Given the description of an element on the screen output the (x, y) to click on. 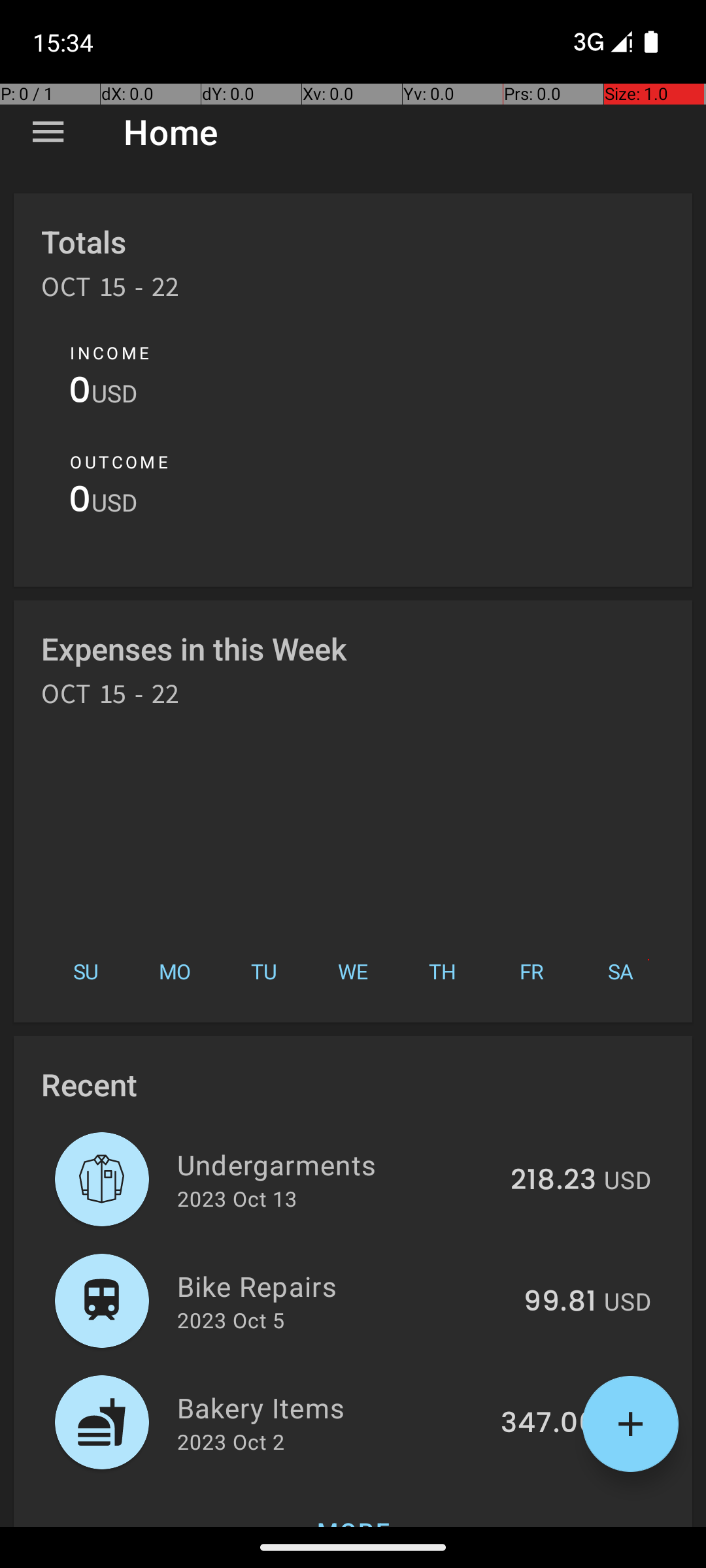
MORE Element type: android.widget.Button (352, 1504)
218.23 Element type: android.widget.TextView (552, 1180)
Bike Repairs Element type: android.widget.TextView (342, 1285)
2023 Oct 5 Element type: android.widget.TextView (230, 1320)
99.81 Element type: android.widget.TextView (559, 1301)
Bakery Items Element type: android.widget.TextView (331, 1407)
2023 Oct 2 Element type: android.widget.TextView (230, 1441)
347.06 Element type: android.widget.TextView (548, 1423)
